Given the description of an element on the screen output the (x, y) to click on. 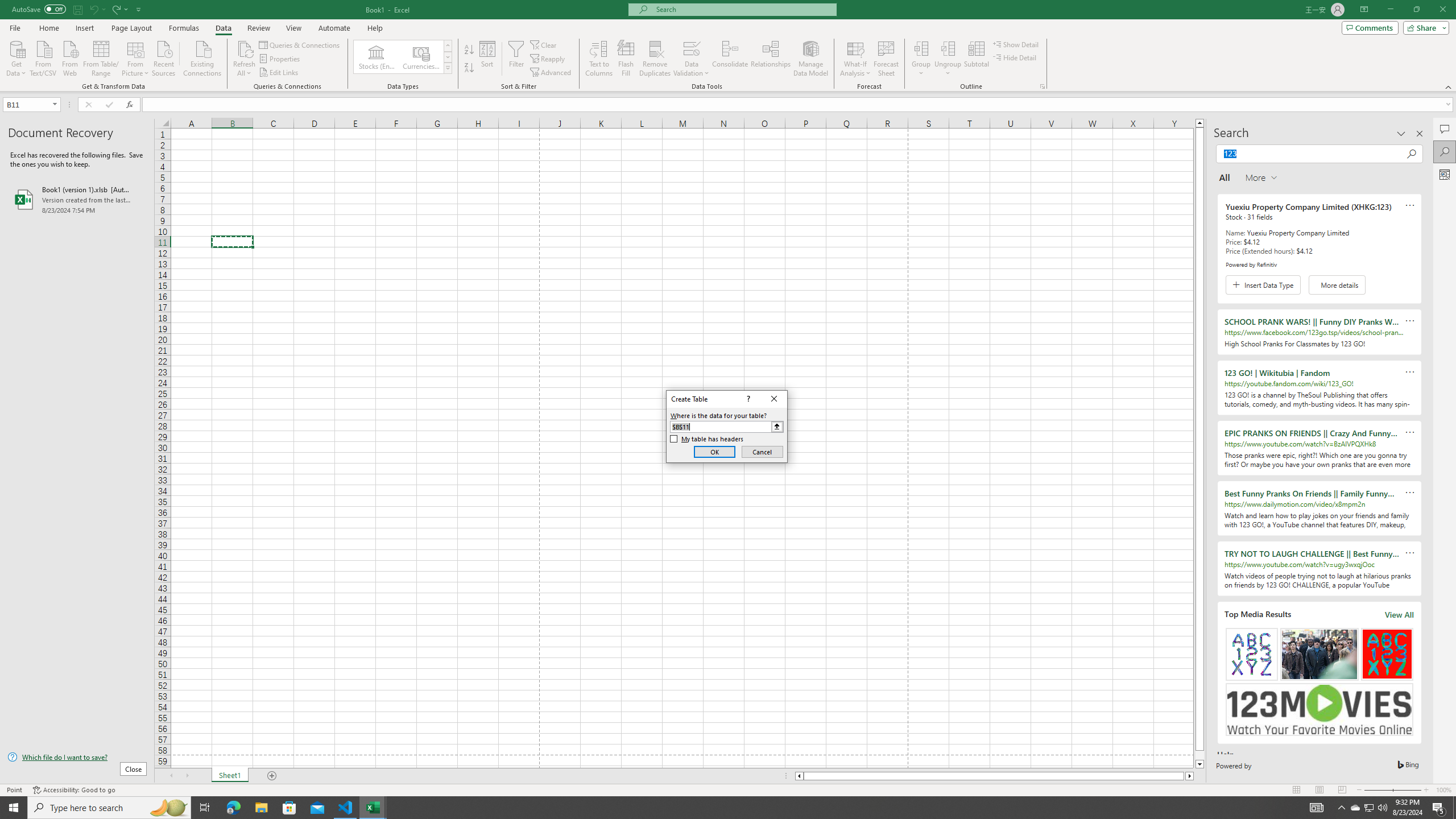
From Web (69, 57)
Running applications (717, 807)
Context help (747, 398)
Stocks (English) (375, 56)
Automate (334, 28)
Reapply (548, 58)
Data Validation... (691, 48)
Queries & Connections (300, 44)
Forecast Sheet (885, 58)
From Table/Range (100, 57)
Analyze Data (1444, 173)
